Given the description of an element on the screen output the (x, y) to click on. 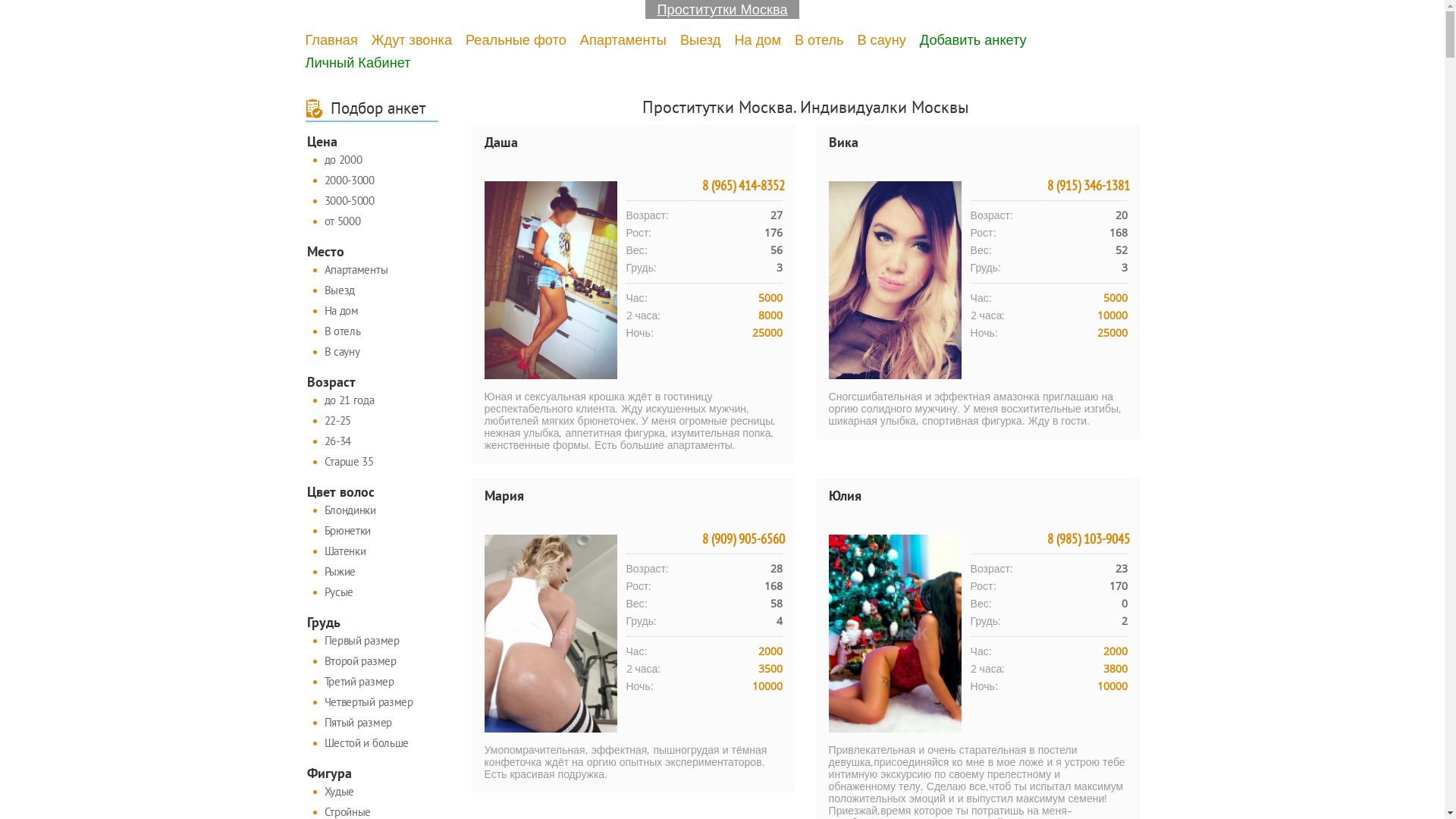
8 (965) 414-8352 Element type: text (743, 185)
3000-5000 Element type: text (370, 201)
8 (985) 103-9045 Element type: text (1087, 539)
22-25 Element type: text (370, 421)
26-34 Element type: text (370, 441)
8 (909) 905-6560 Element type: text (743, 539)
2000-3000 Element type: text (370, 180)
8 (915) 346-1381 Element type: text (1087, 185)
